Given the description of an element on the screen output the (x, y) to click on. 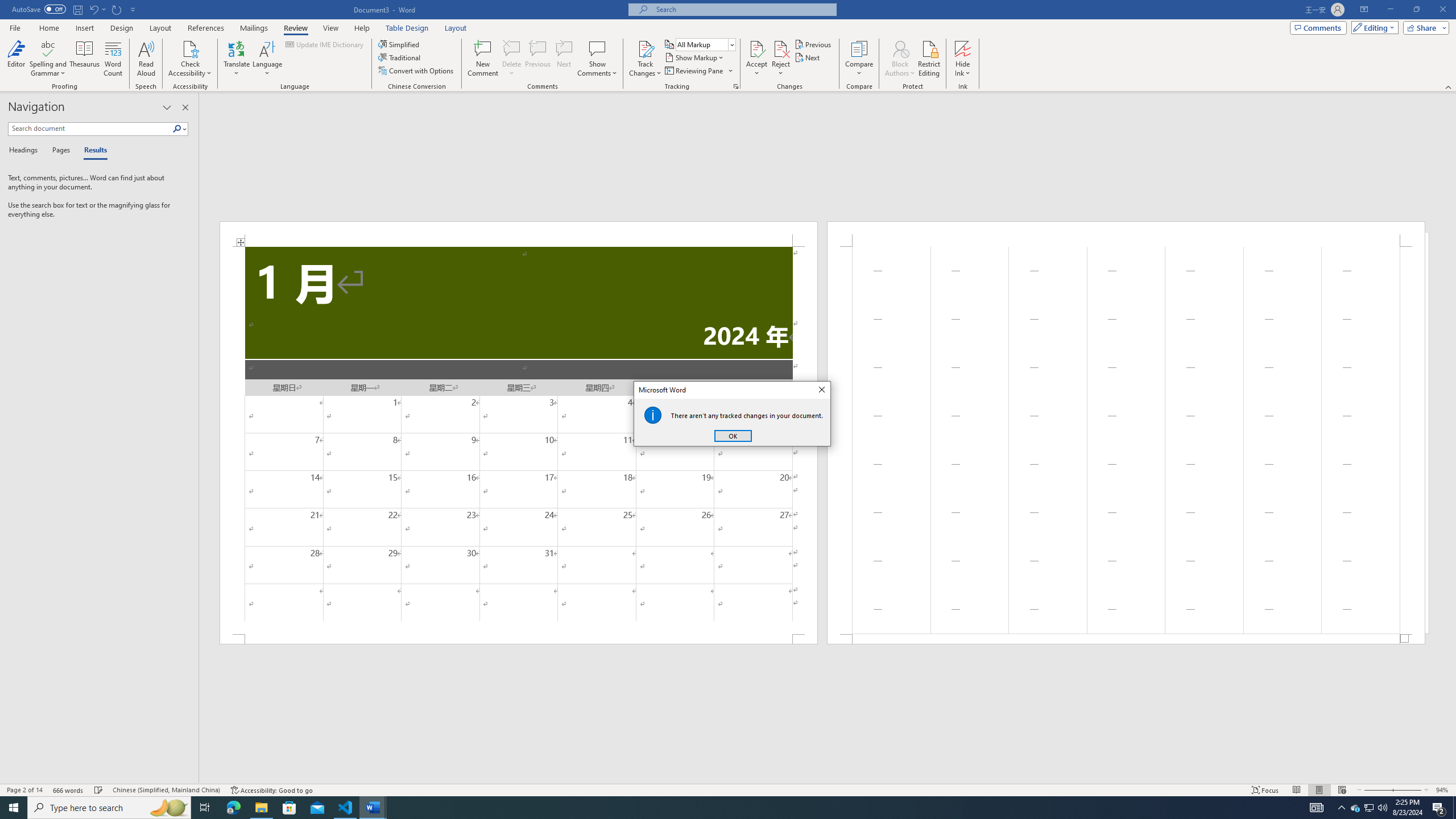
Delete (511, 58)
Running applications (717, 807)
Class: Static (652, 415)
